Given the description of an element on the screen output the (x, y) to click on. 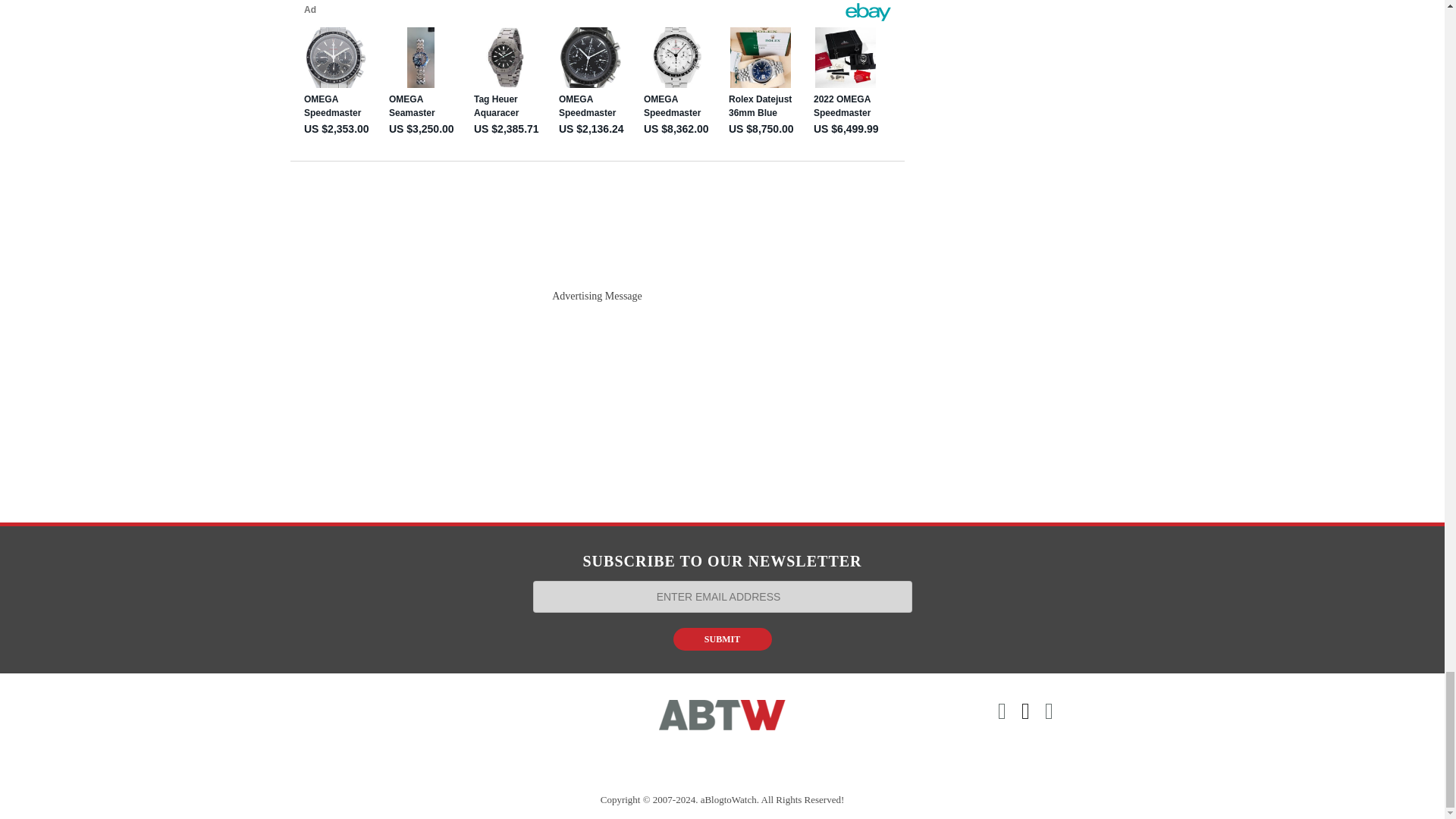
SUBMIT (721, 639)
3rd party ad content (597, 407)
